Given the description of an element on the screen output the (x, y) to click on. 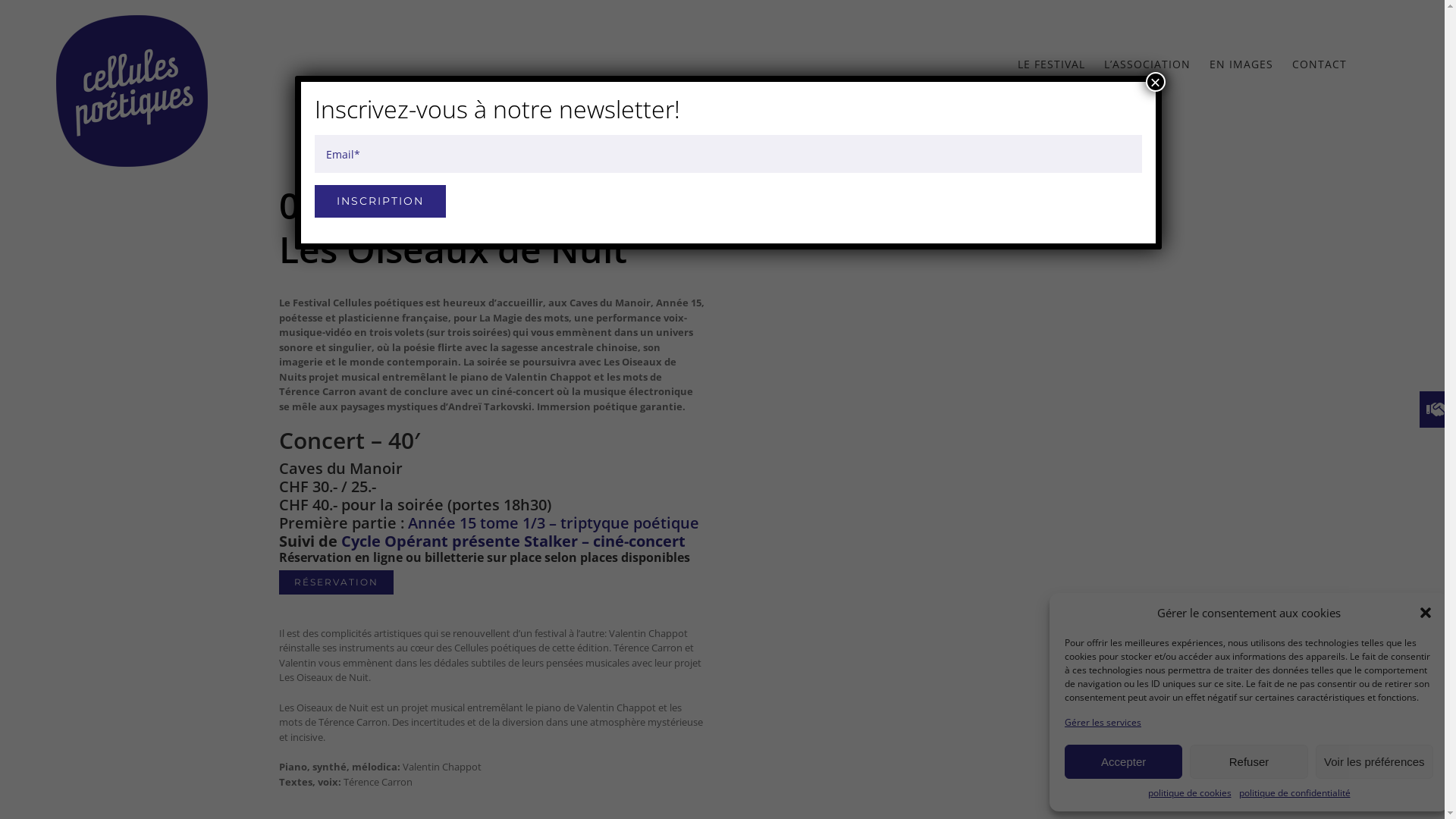
LE FESTIVAL Element type: text (1051, 64)
Accepter Element type: text (1123, 761)
YouTube video player 1 Element type: hover (953, 423)
inscription Element type: text (379, 201)
EN IMAGES Element type: text (1241, 64)
Refuser Element type: text (1248, 761)
politique de cookies Element type: text (1189, 793)
CONTACT Element type: text (1319, 64)
